Given the description of an element on the screen output the (x, y) to click on. 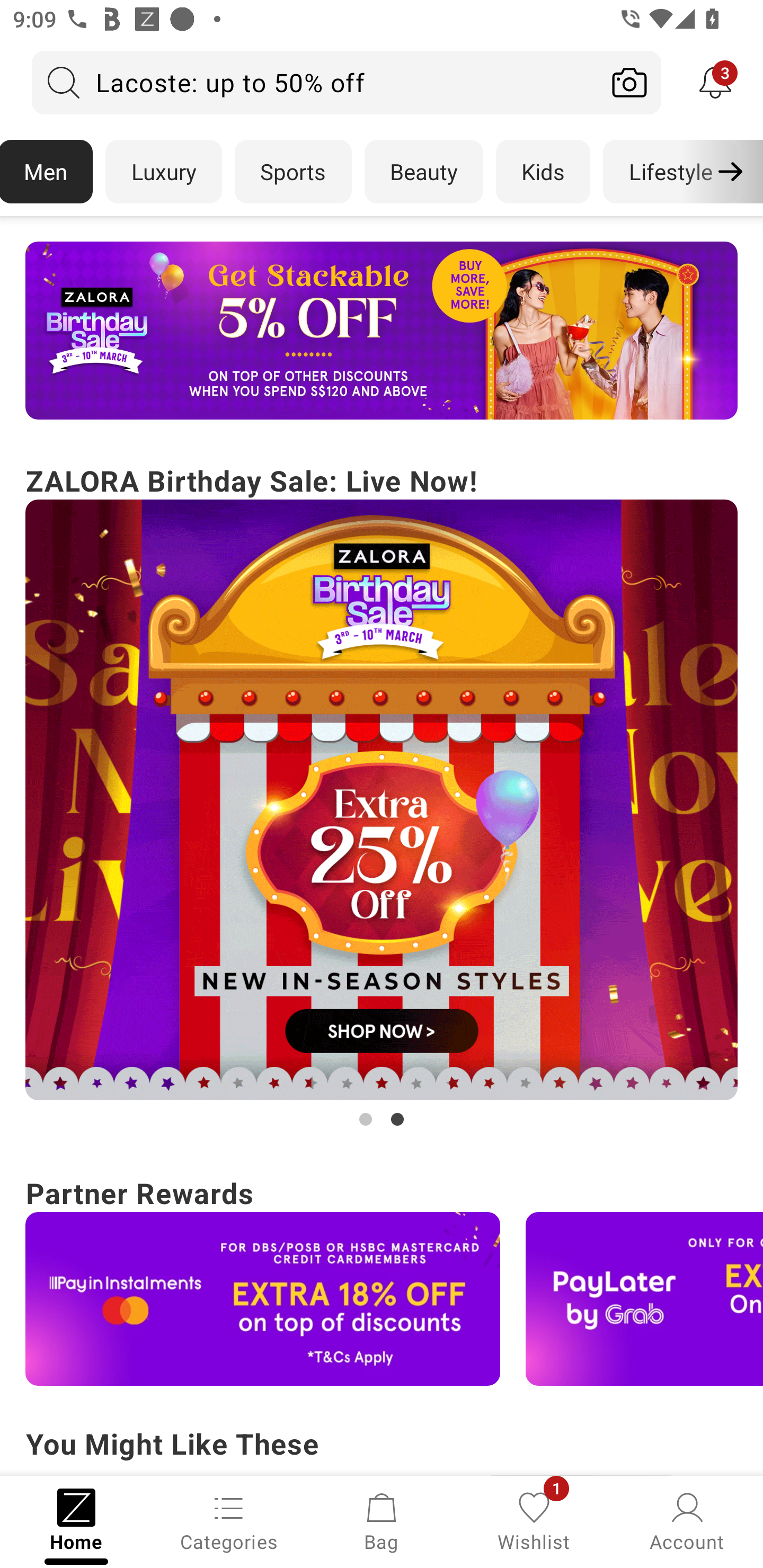
Lacoste: up to 50% off (314, 82)
Men (46, 171)
Luxury (163, 171)
Sports (293, 171)
Beauty (423, 171)
Kids (542, 171)
Lifestyle (669, 171)
Campaign banner (381, 330)
ZALORA Birthday Sale: Live Now! Campaign banner (381, 794)
Campaign banner (381, 800)
Partner Rewards Campaign banner Campaign banner (381, 1277)
Campaign banner (262, 1299)
Campaign banner (644, 1299)
Categories (228, 1519)
Bag (381, 1519)
Wishlist, 1 new notification Wishlist (533, 1519)
Account (686, 1519)
